Given the description of an element on the screen output the (x, y) to click on. 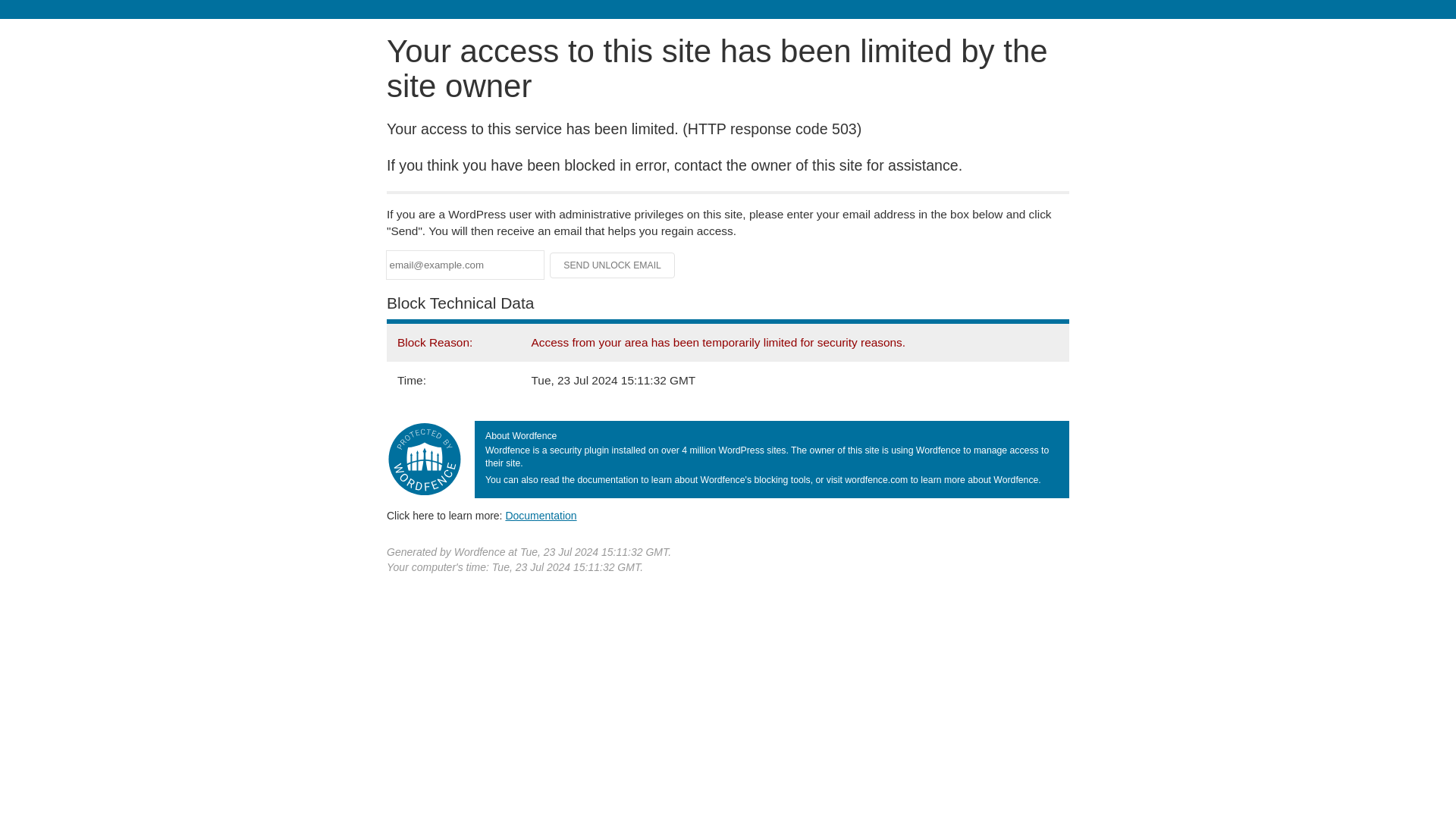
Send Unlock Email (612, 265)
Documentation (540, 515)
Send Unlock Email (612, 265)
